Given the description of an element on the screen output the (x, y) to click on. 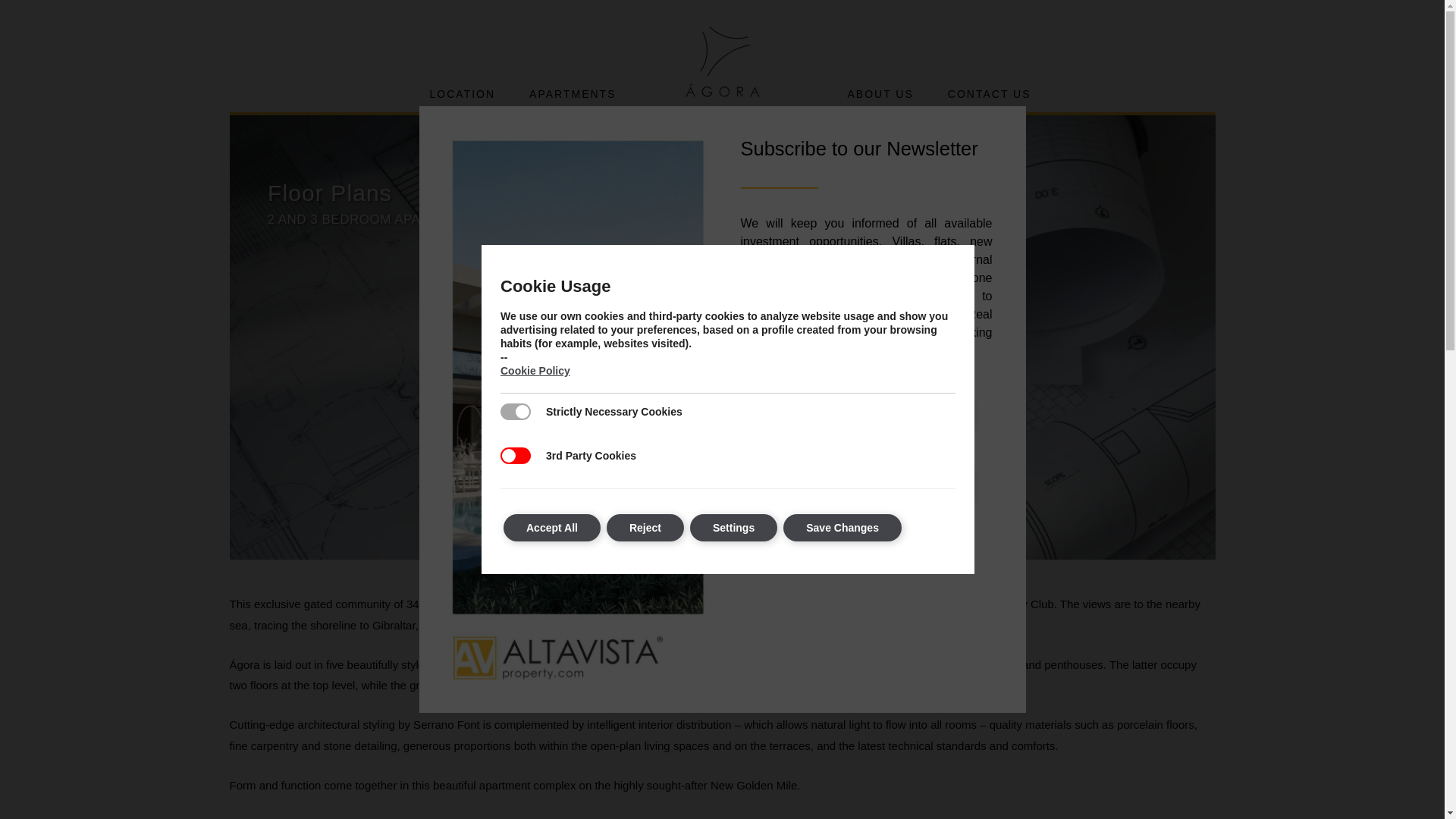
APARTMENTS (572, 94)
ABOUT US (880, 94)
Save Changes (842, 527)
CONTACT US (989, 94)
LOCATION (462, 94)
